Given the description of an element on the screen output the (x, y) to click on. 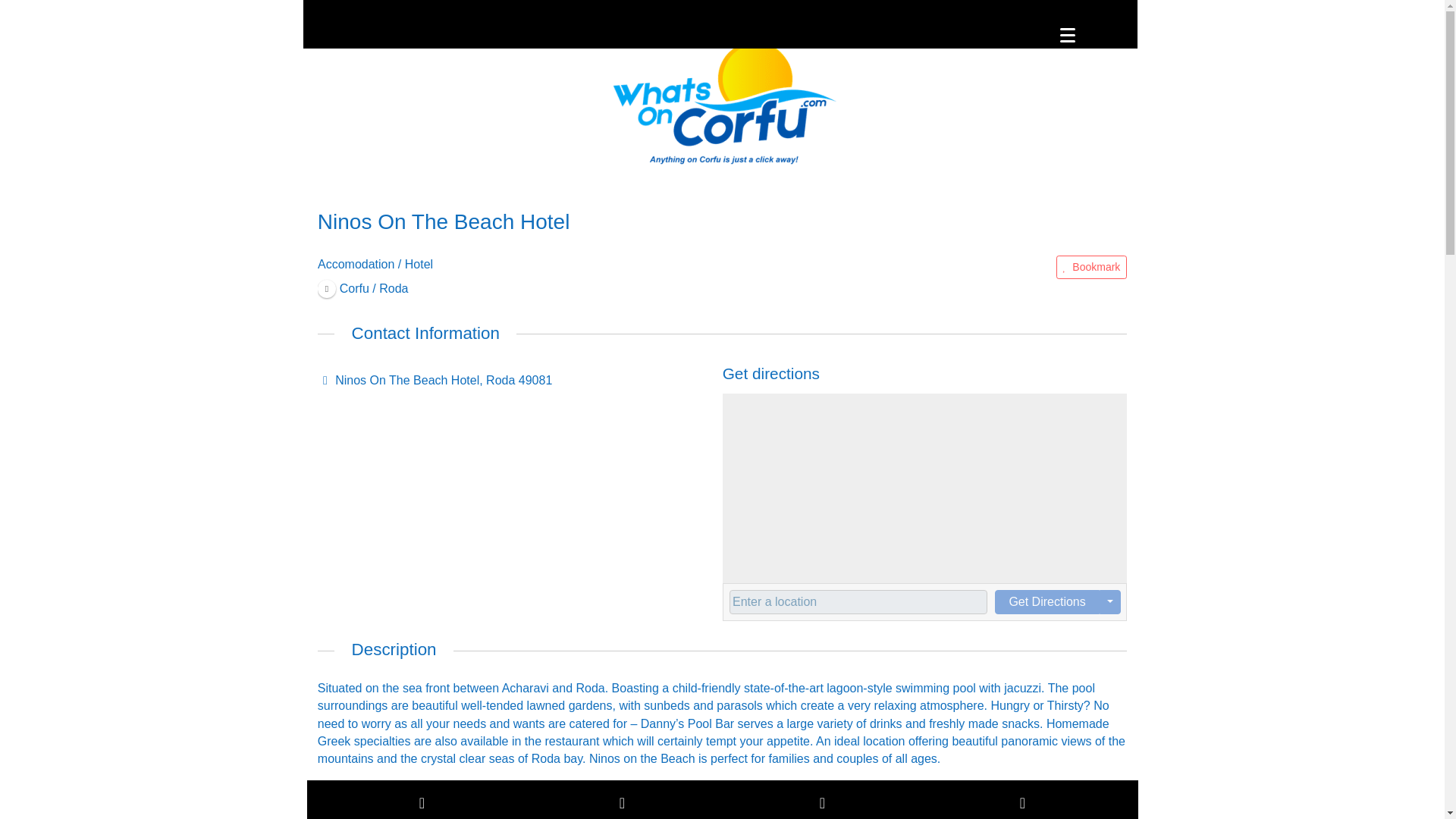
Get Directions (1046, 601)
Bookmark (1090, 267)
Hotel (418, 264)
Whats On Corfu plus tag - July 2020 v2 (721, 103)
Roda (363, 287)
Accomodation (355, 264)
Accomodation (355, 264)
Hotel (418, 264)
